Given the description of an element on the screen output the (x, y) to click on. 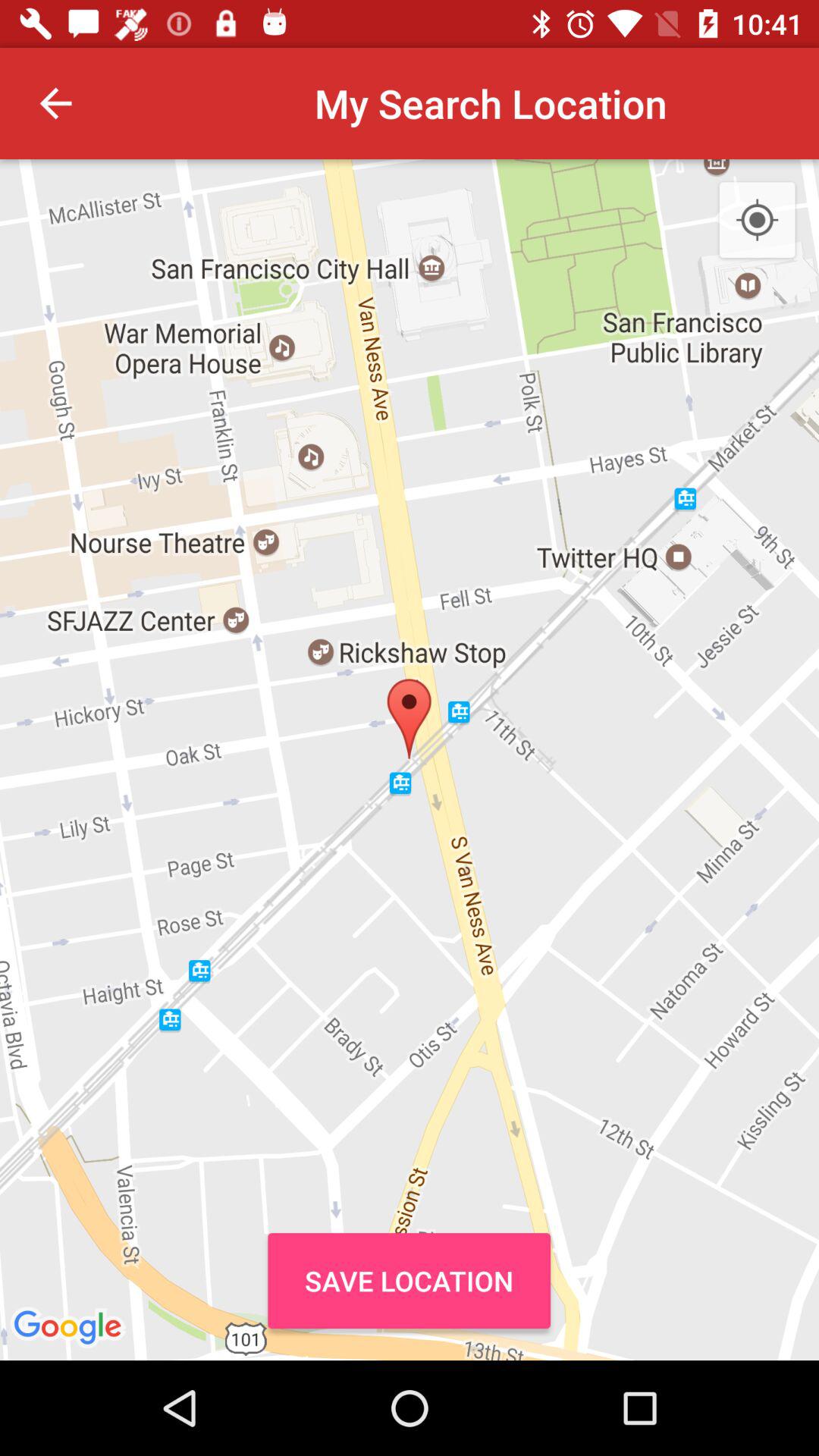
press icon at the top left corner (55, 103)
